Given the description of an element on the screen output the (x, y) to click on. 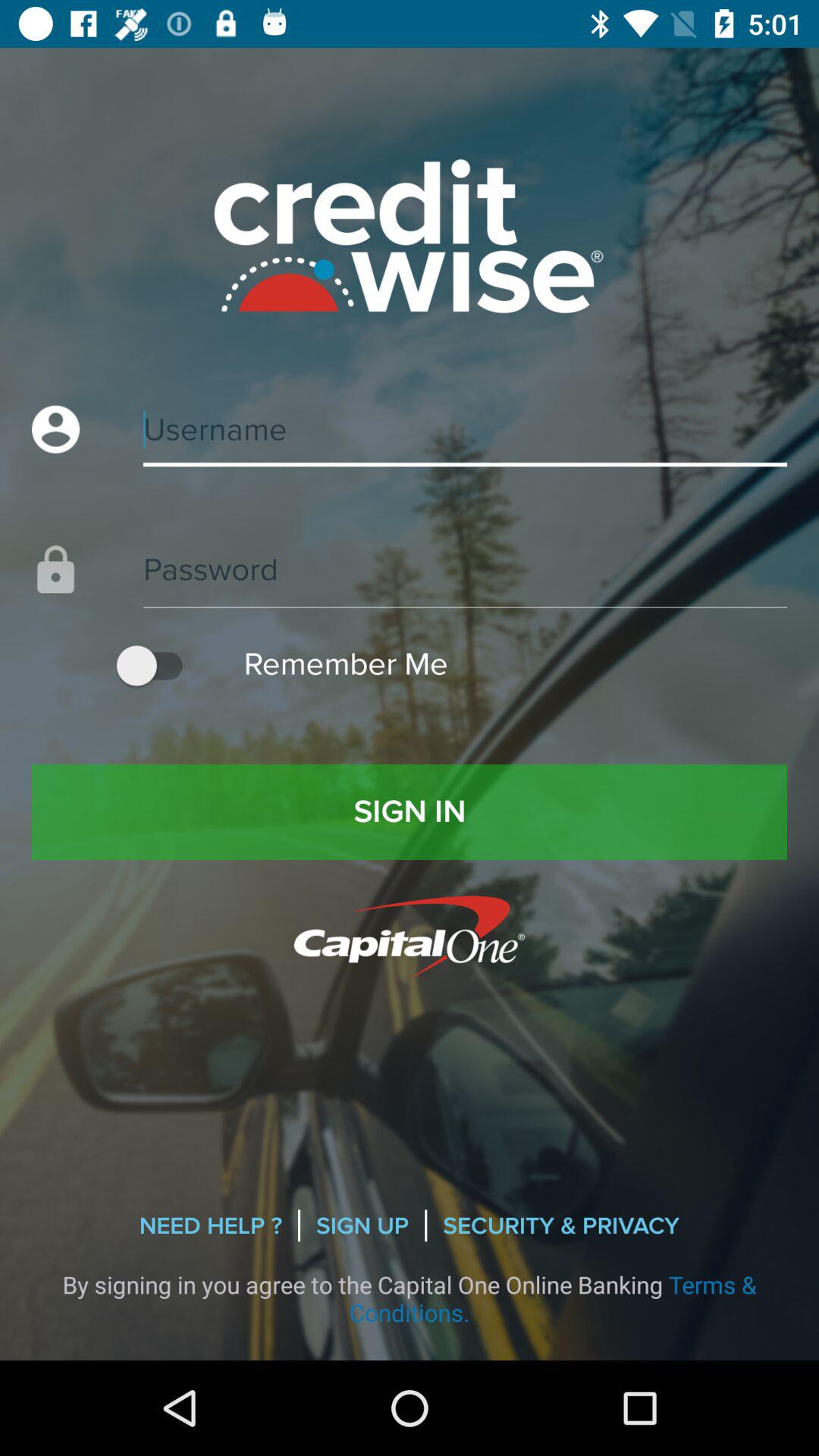
select the item above by signing in icon (362, 1225)
